Given the description of an element on the screen output the (x, y) to click on. 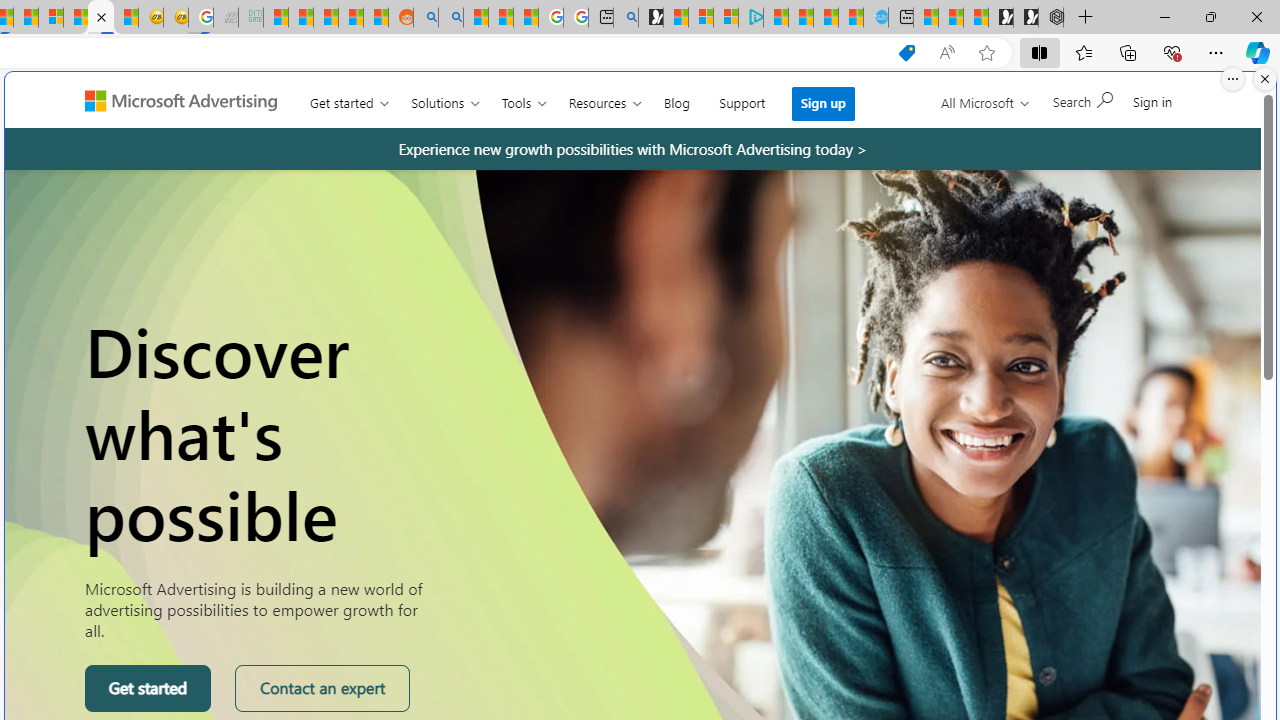
Blog (676, 98)
Create images, get help with writing, and search faster (91, 108)
